Given the description of an element on the screen output the (x, y) to click on. 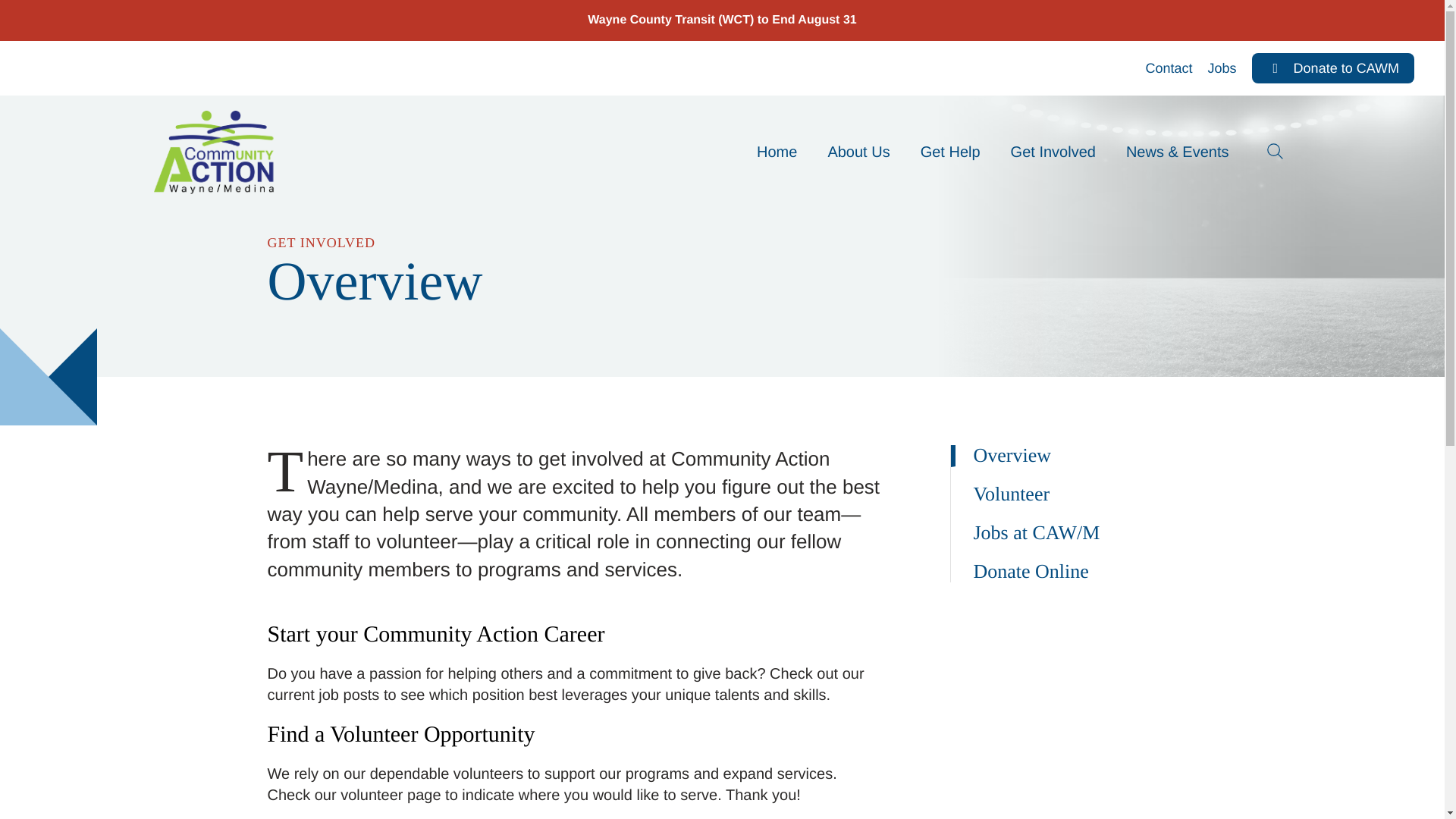
Home (776, 152)
logo (215, 152)
Donate to CAWM (1332, 68)
About Us (858, 152)
Contact (1168, 68)
Jobs (1222, 68)
Get Help (950, 152)
